Given the description of an element on the screen output the (x, y) to click on. 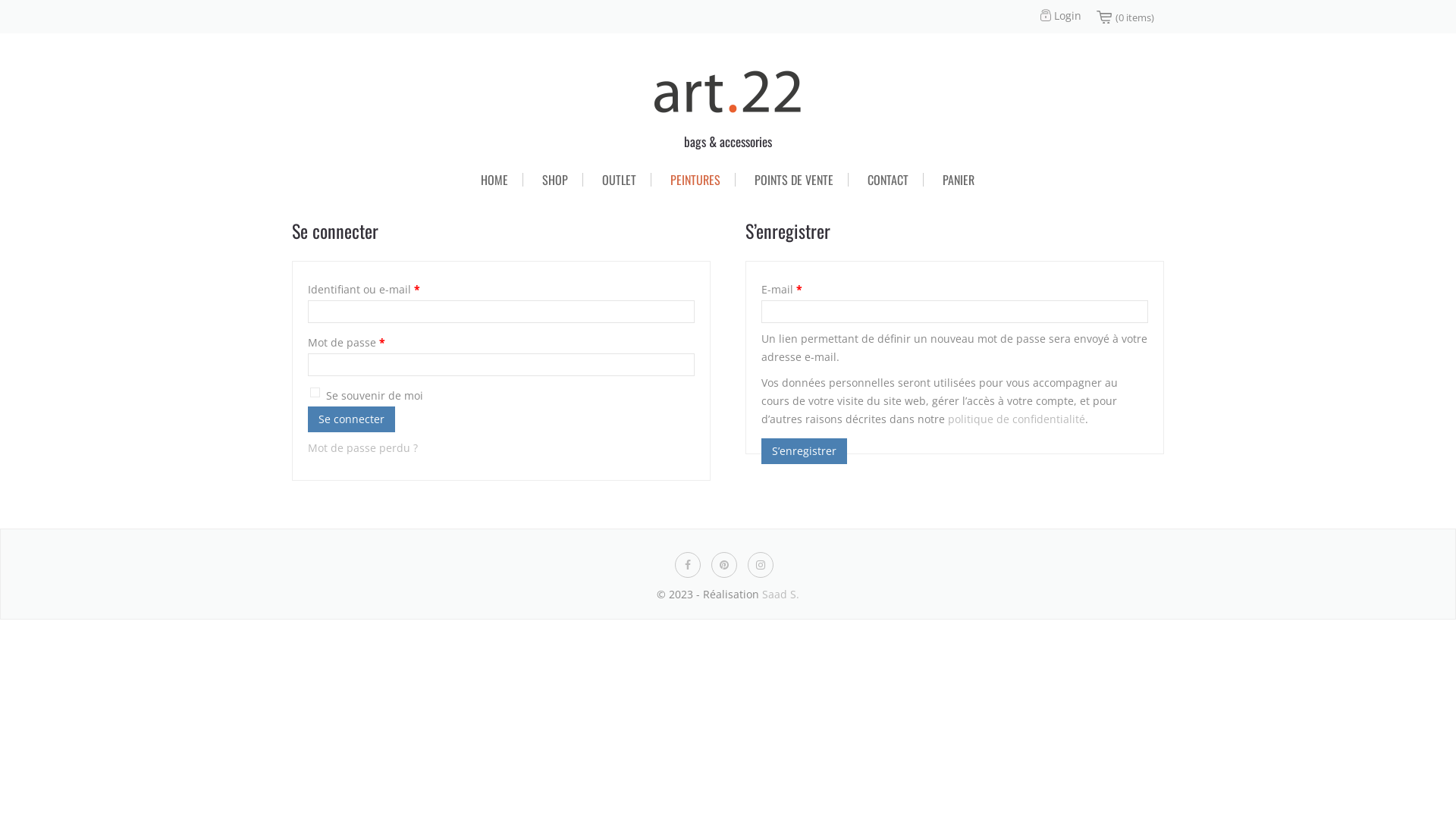
Skip to content Element type: text (291, 158)
Pinterest Element type: hover (724, 562)
Instagram Element type: hover (760, 562)
CONTACT Element type: text (887, 179)
Facebook Element type: hover (687, 562)
Login Element type: text (1059, 15)
OUTLET Element type: text (618, 179)
Se connecter Element type: text (351, 419)
PEINTURES Element type: text (695, 179)
Art.22 Element type: hover (727, 91)
POINTS DE VENTE Element type: text (793, 179)
(0 items) Element type: text (1134, 17)
SHOP Element type: text (555, 179)
Saad S. Element type: text (780, 593)
HOME Element type: text (494, 179)
Mot de passe perdu ? Element type: text (362, 447)
PANIER Element type: text (958, 179)
